Given the description of an element on the screen output the (x, y) to click on. 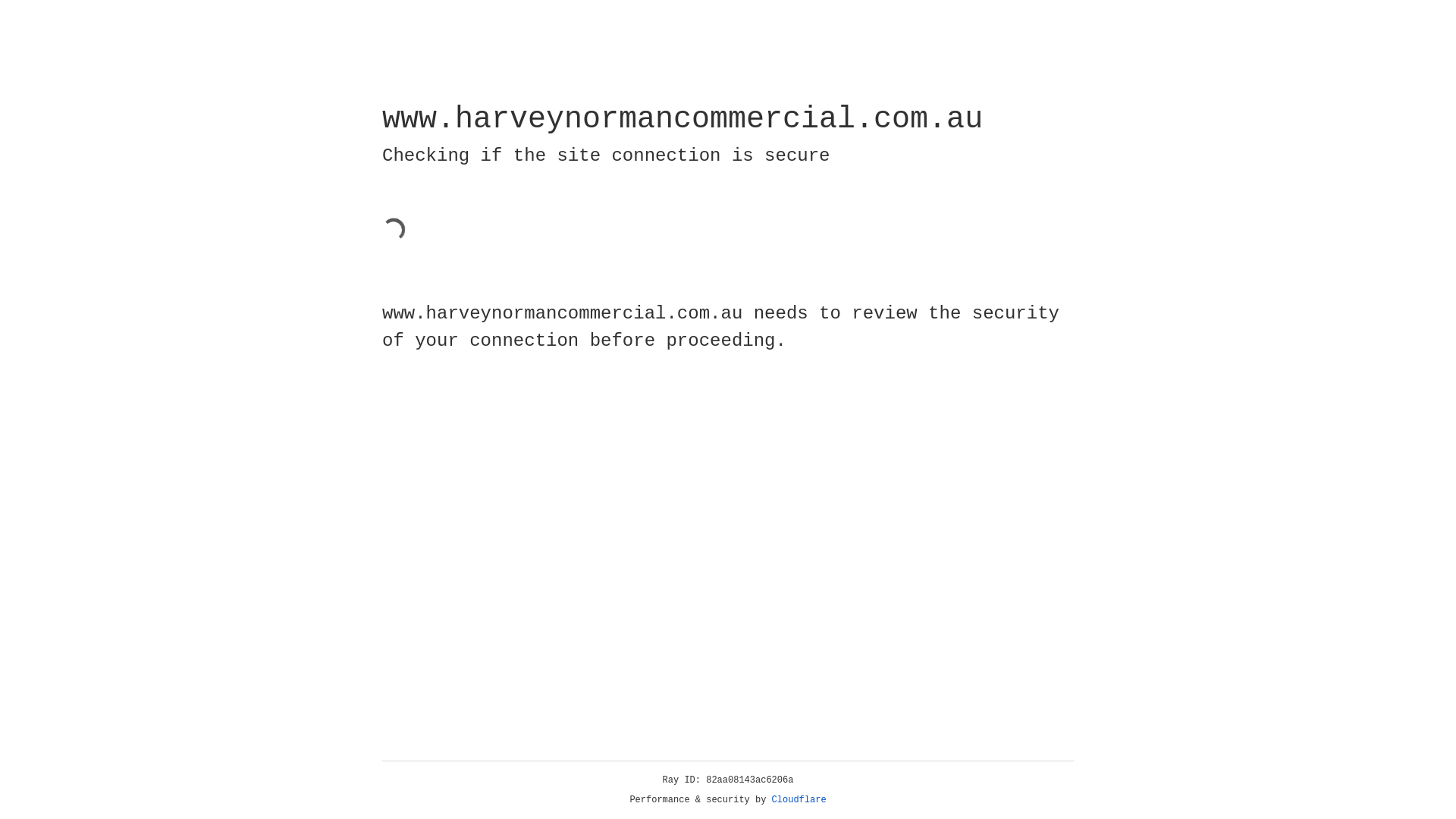
Cloudflare Element type: text (798, 799)
